Given the description of an element on the screen output the (x, y) to click on. 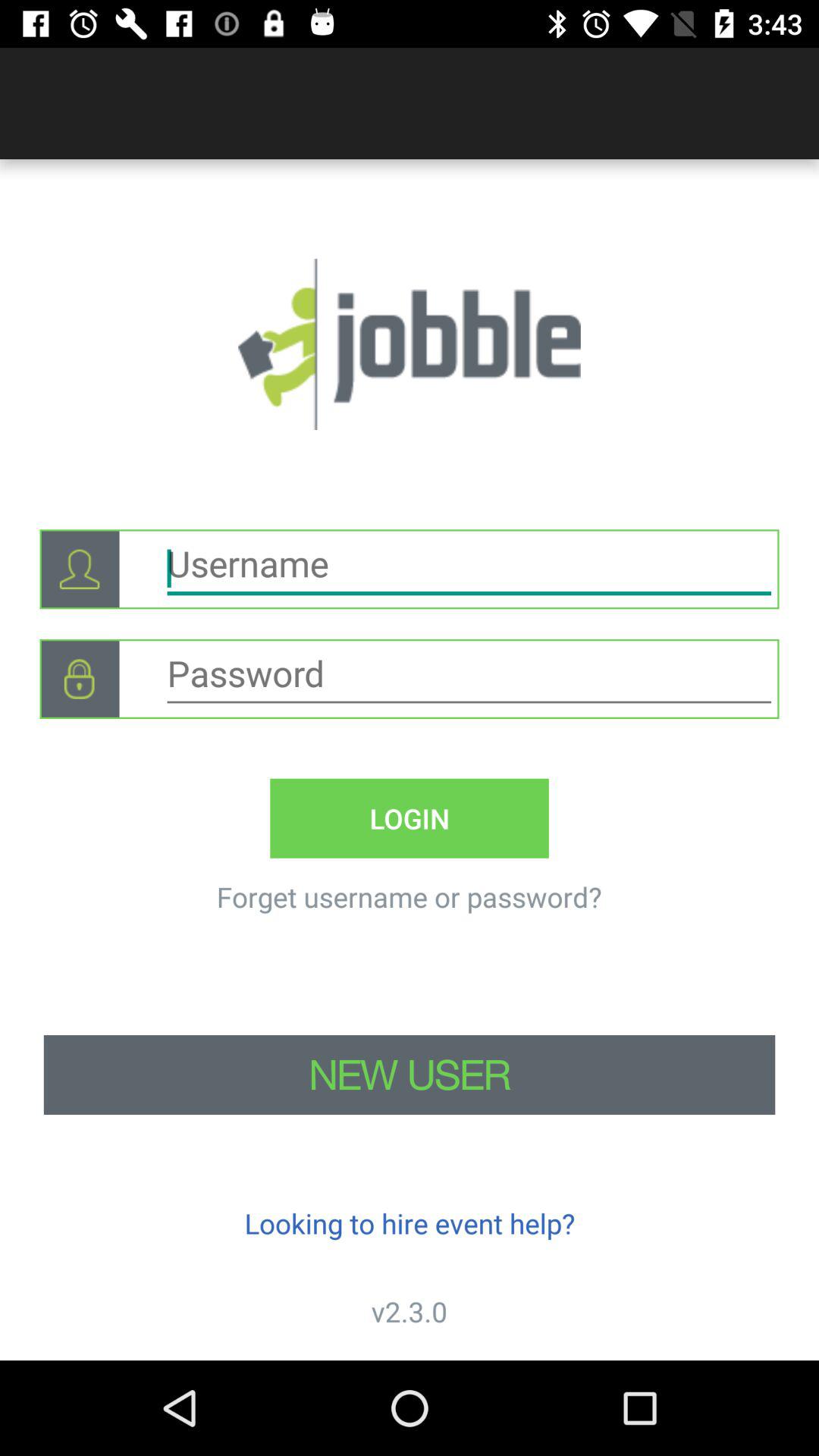
turn off the item below login item (408, 896)
